Given the description of an element on the screen output the (x, y) to click on. 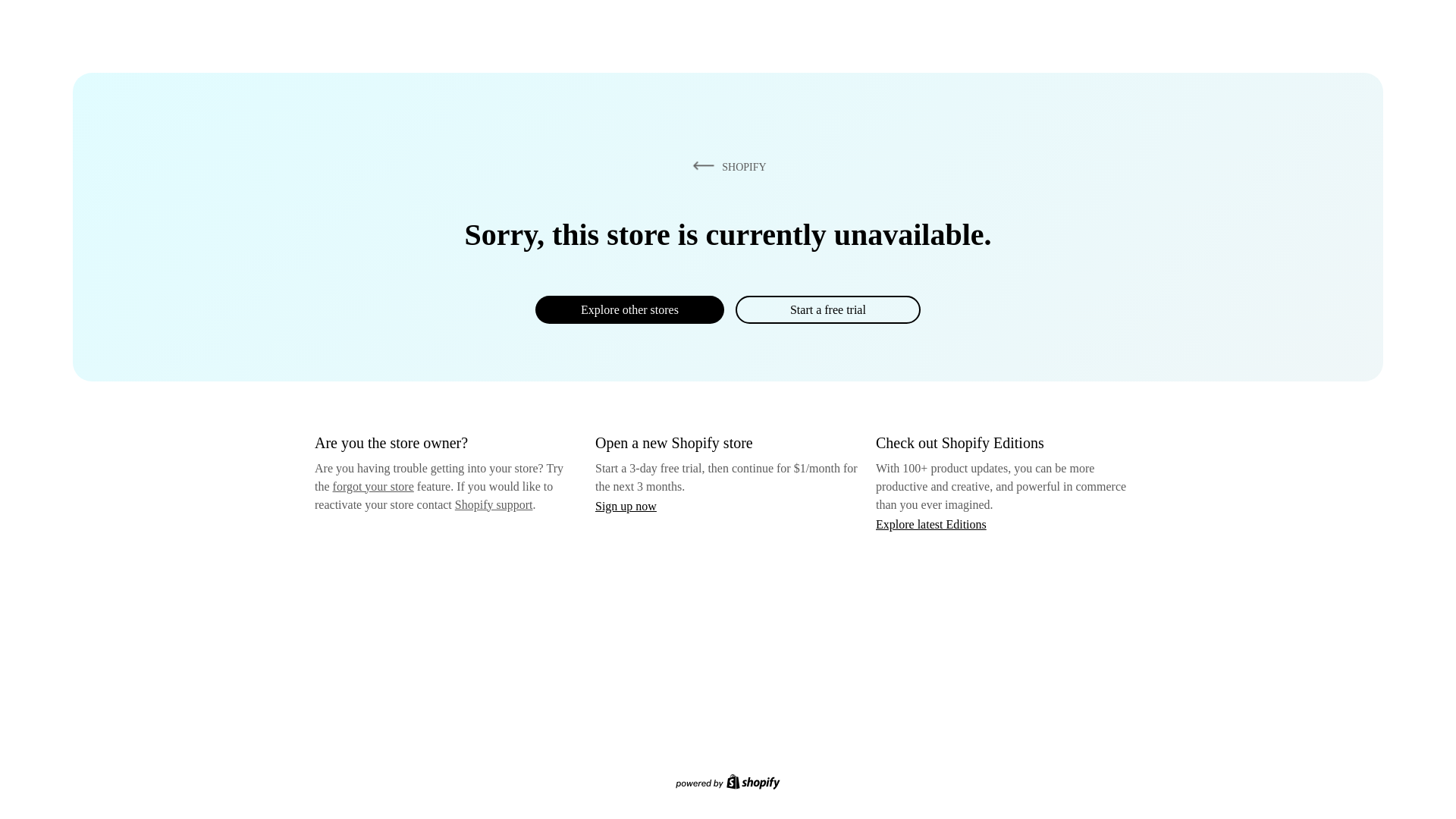
Explore other stores (629, 309)
Start a free trial (827, 309)
forgot your store (373, 486)
SHOPIFY (726, 166)
Sign up now (625, 505)
Shopify support (493, 504)
Explore latest Editions (931, 523)
